Given the description of an element on the screen output the (x, y) to click on. 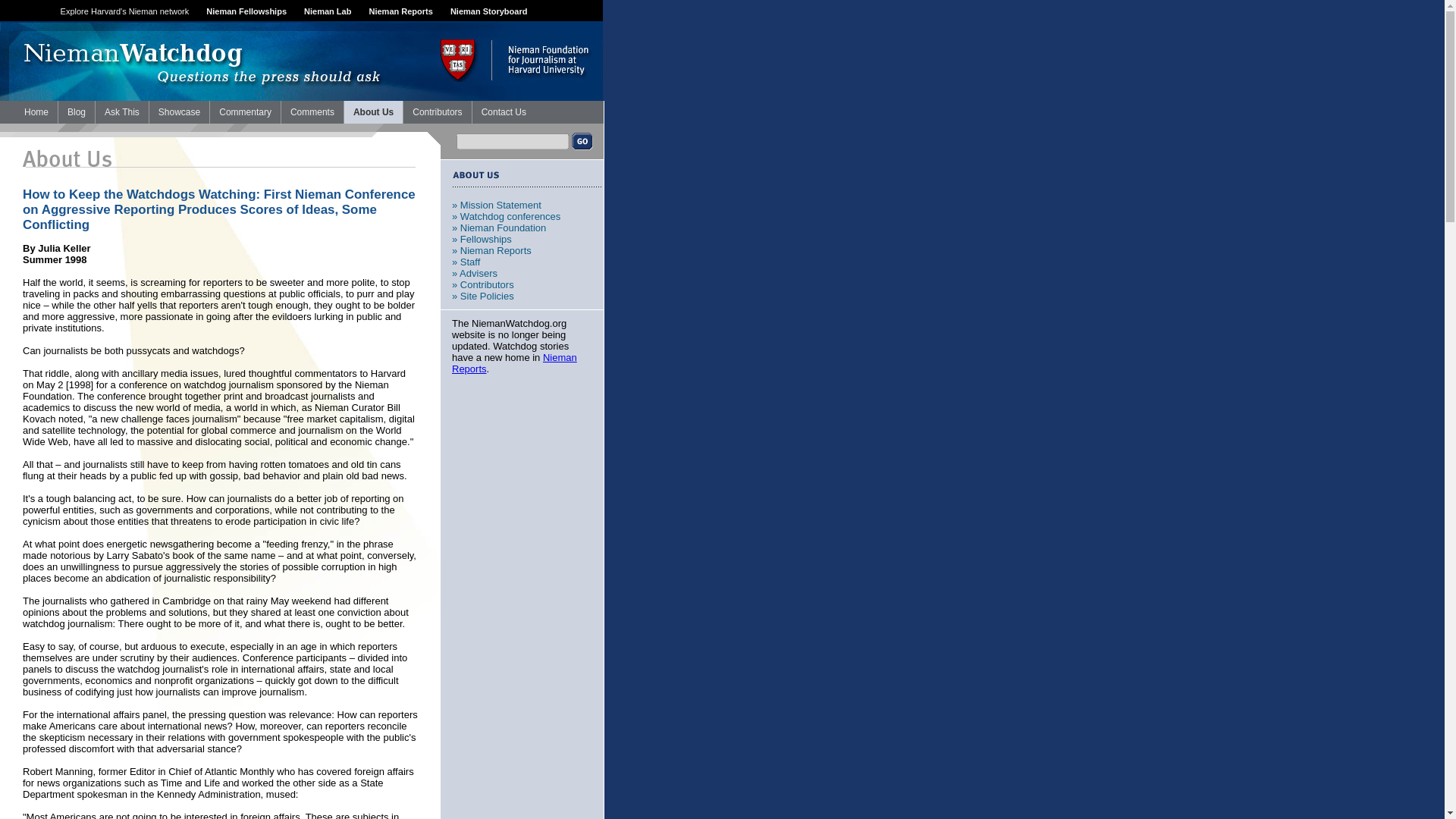
Commentary (245, 112)
Nieman Fellowships (246, 10)
Showcase (179, 112)
Contributors (436, 112)
About Us (373, 112)
Blog (76, 112)
Home (36, 112)
Contact Us (503, 112)
Ask This (122, 112)
Nieman Lab (327, 10)
Nieman Storyboard (488, 10)
Explore Harvard's Nieman network (125, 10)
Nieman Reports (400, 10)
Comments (312, 112)
Nieman Reports (513, 363)
